Given the description of an element on the screen output the (x, y) to click on. 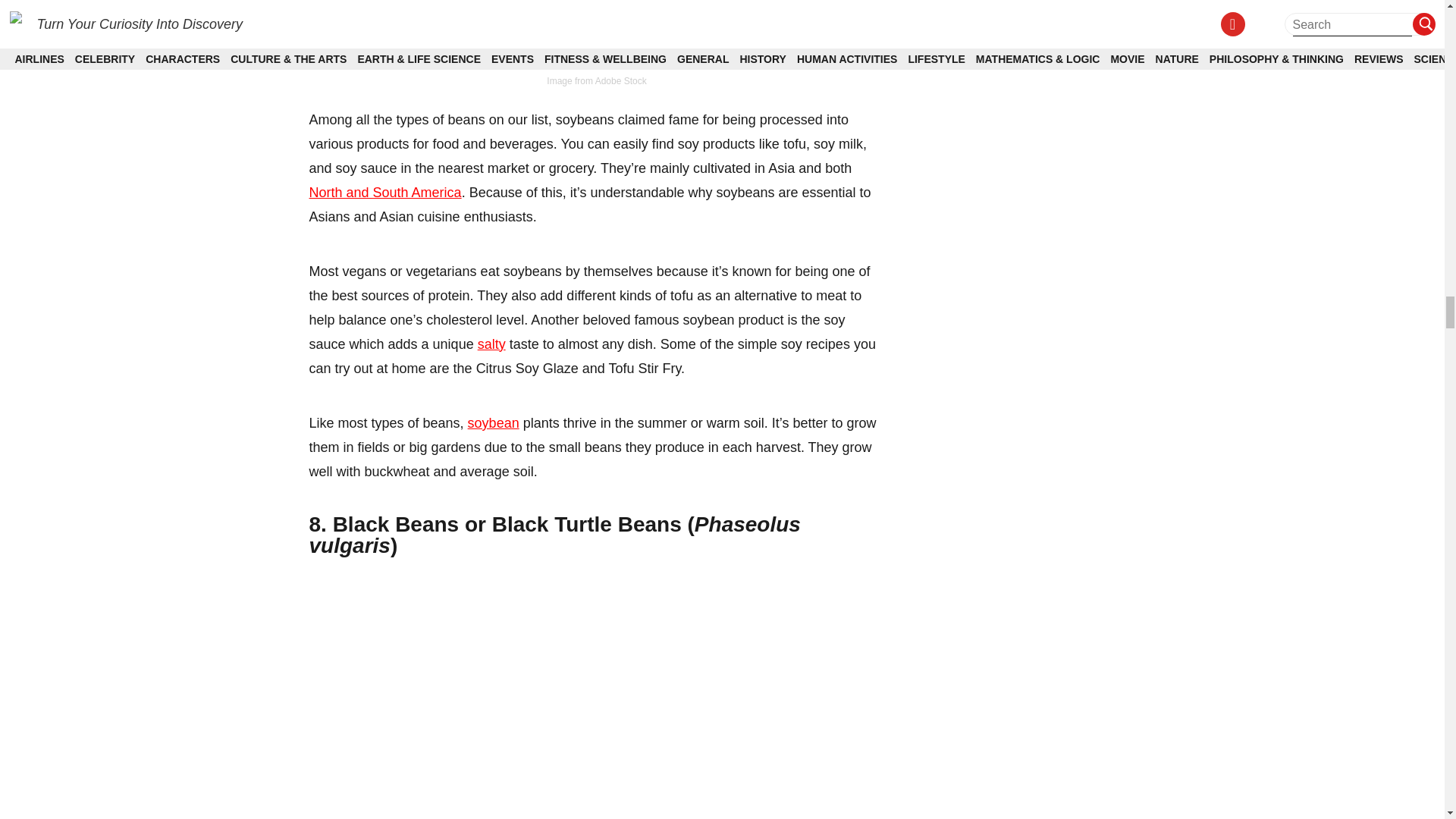
soybean (493, 422)
North and South America (384, 192)
salty (491, 344)
